Given the description of an element on the screen output the (x, y) to click on. 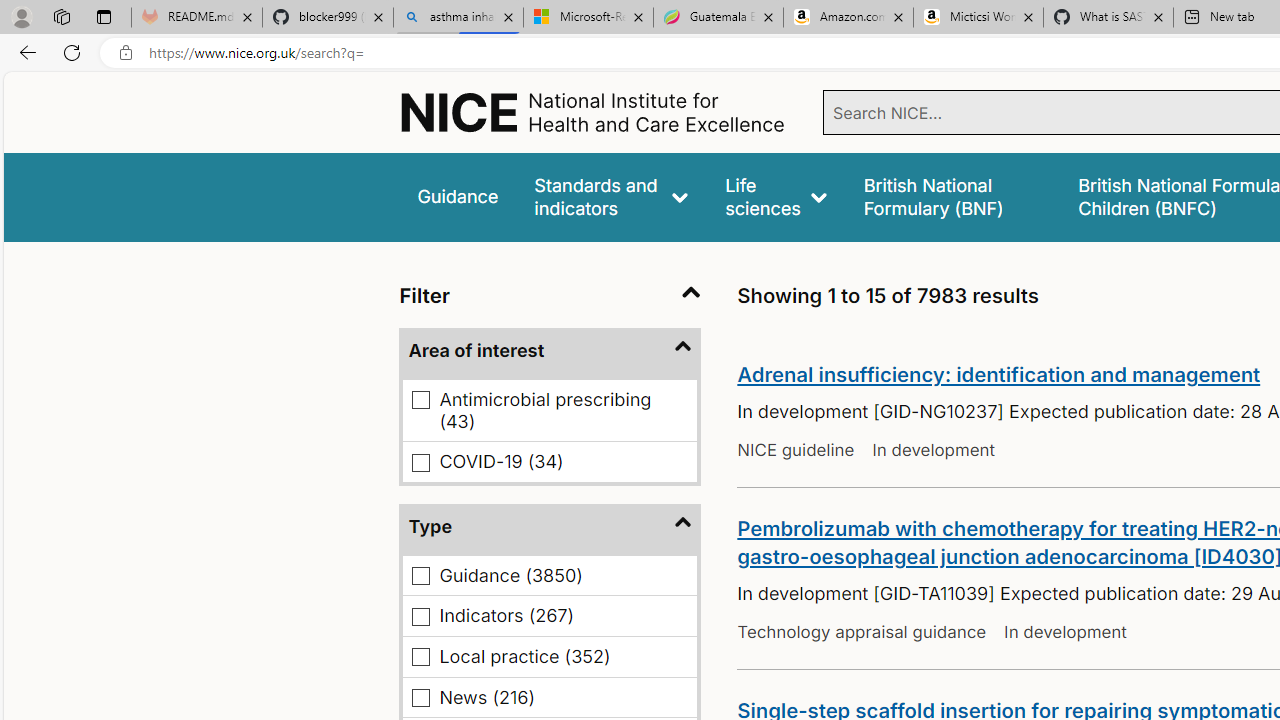
Adrenal insufficiency: identification and management (998, 374)
News (216) (421, 697)
Local practice (352) (421, 657)
Microsoft-Report a Concern to Bing (587, 17)
Home (593, 112)
Area of interest (550, 351)
Indicators (267) (421, 615)
Life sciences (776, 196)
Guidance (458, 196)
Type (550, 526)
